Given the description of an element on the screen output the (x, y) to click on. 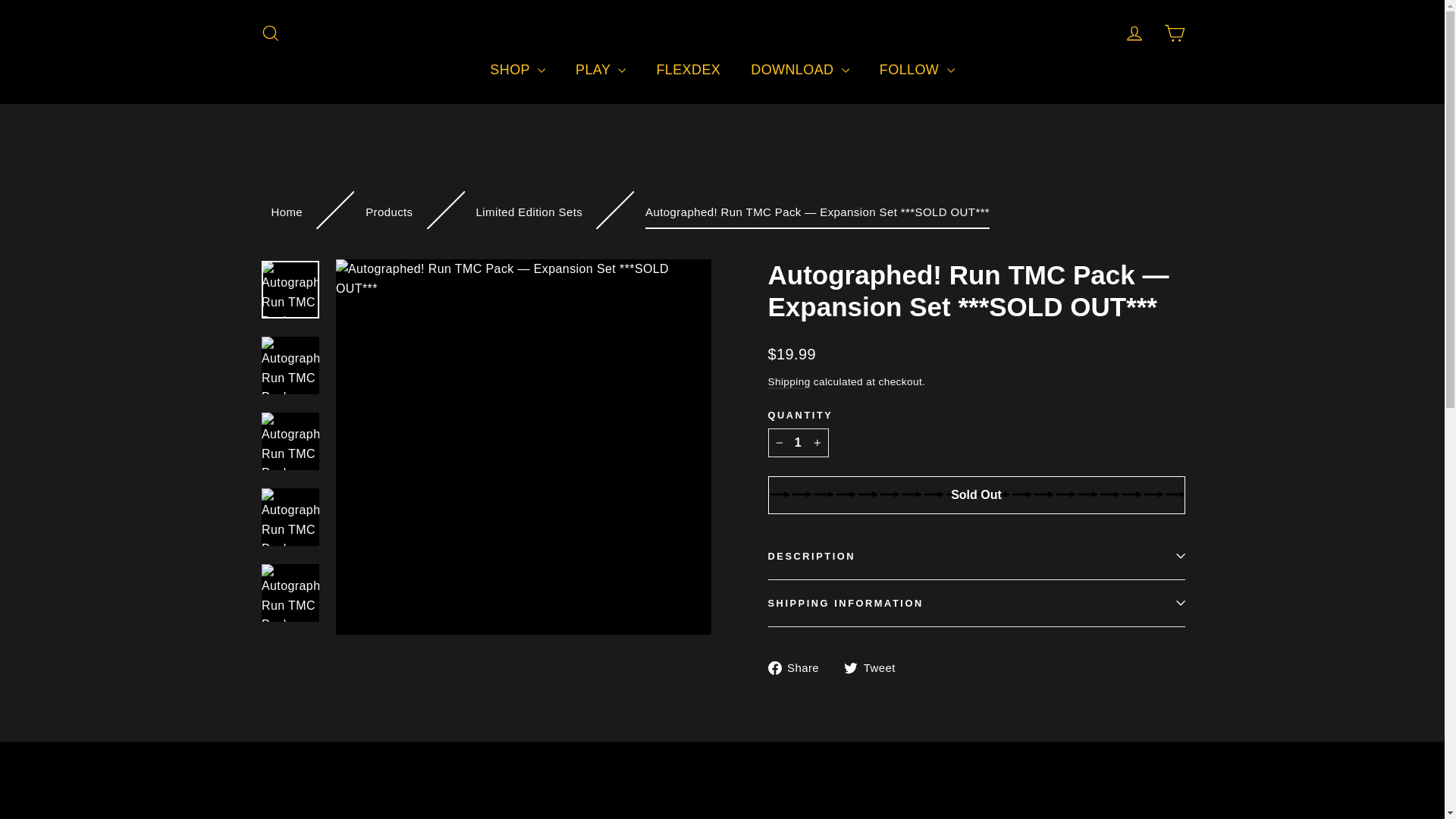
DOWNLOAD (799, 69)
Log in (1134, 33)
PLAY (600, 69)
SHOP (517, 69)
Back to the frontpage (286, 211)
Tweet on Twitter (875, 667)
Share on Facebook (798, 667)
FLEXDEX (687, 69)
Cart (1173, 33)
1 (797, 442)
